Given the description of an element on the screen output the (x, y) to click on. 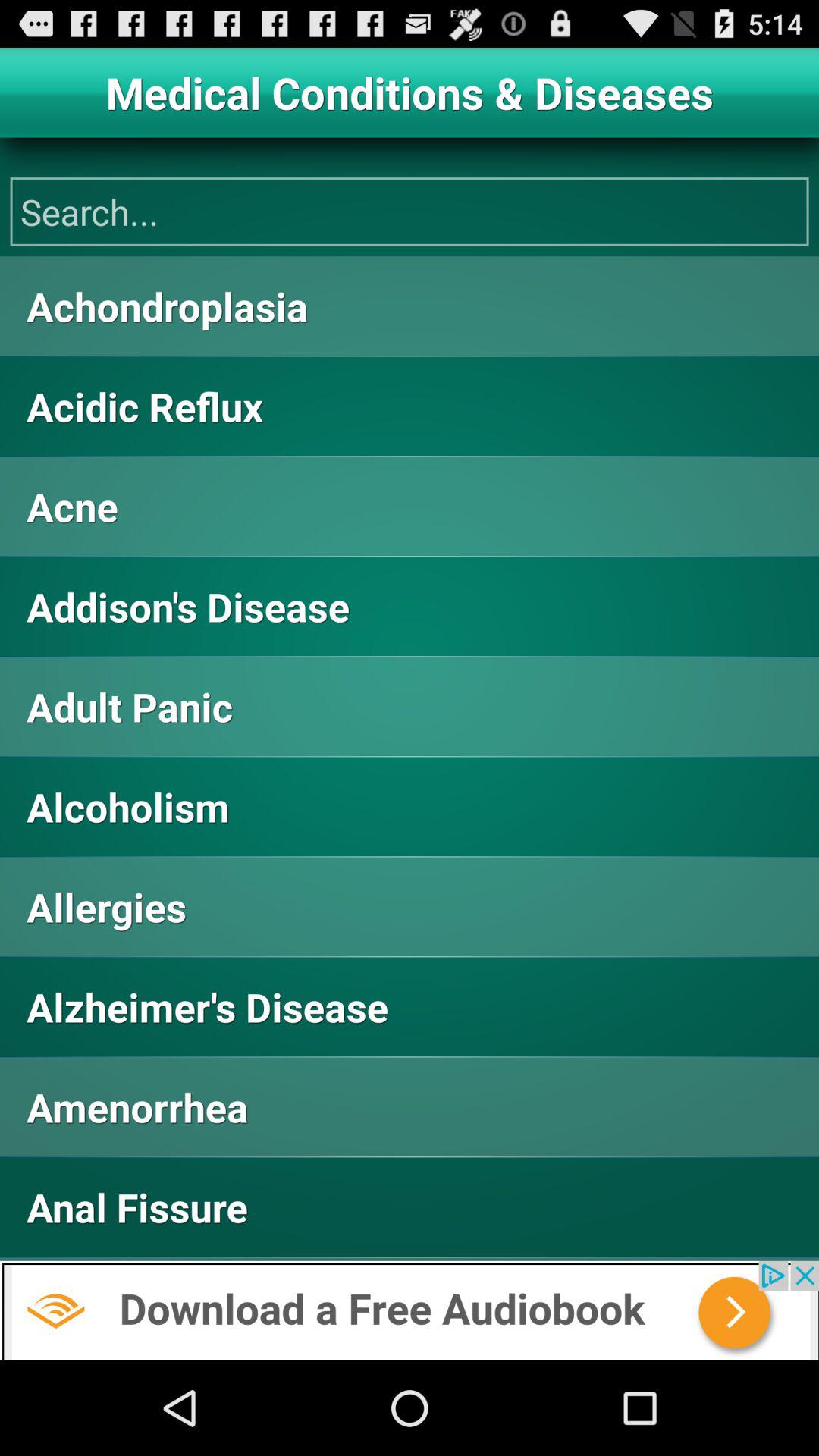
search bar (409, 211)
